Given the description of an element on the screen output the (x, y) to click on. 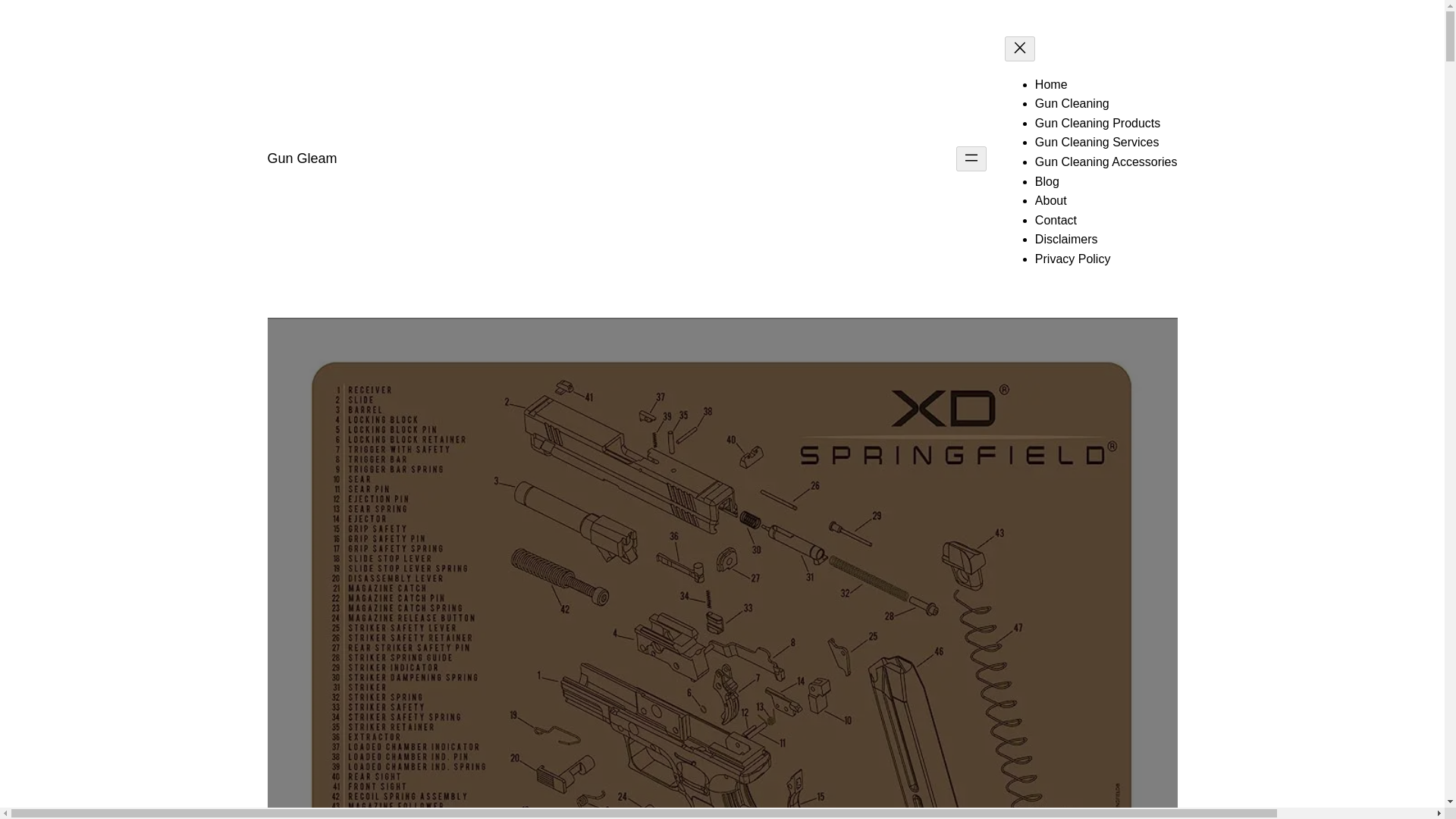
Home (1051, 83)
Contact (1056, 219)
Gun Gleam (301, 158)
Privacy Policy (1072, 258)
About (1051, 200)
Disclaimers (1066, 238)
Gun Cleaning (1072, 103)
Gun Cleaning Services (1096, 141)
Blog (1047, 181)
Gun Cleaning Accessories (1106, 161)
Gun Cleaning Products (1097, 123)
